Given the description of an element on the screen output the (x, y) to click on. 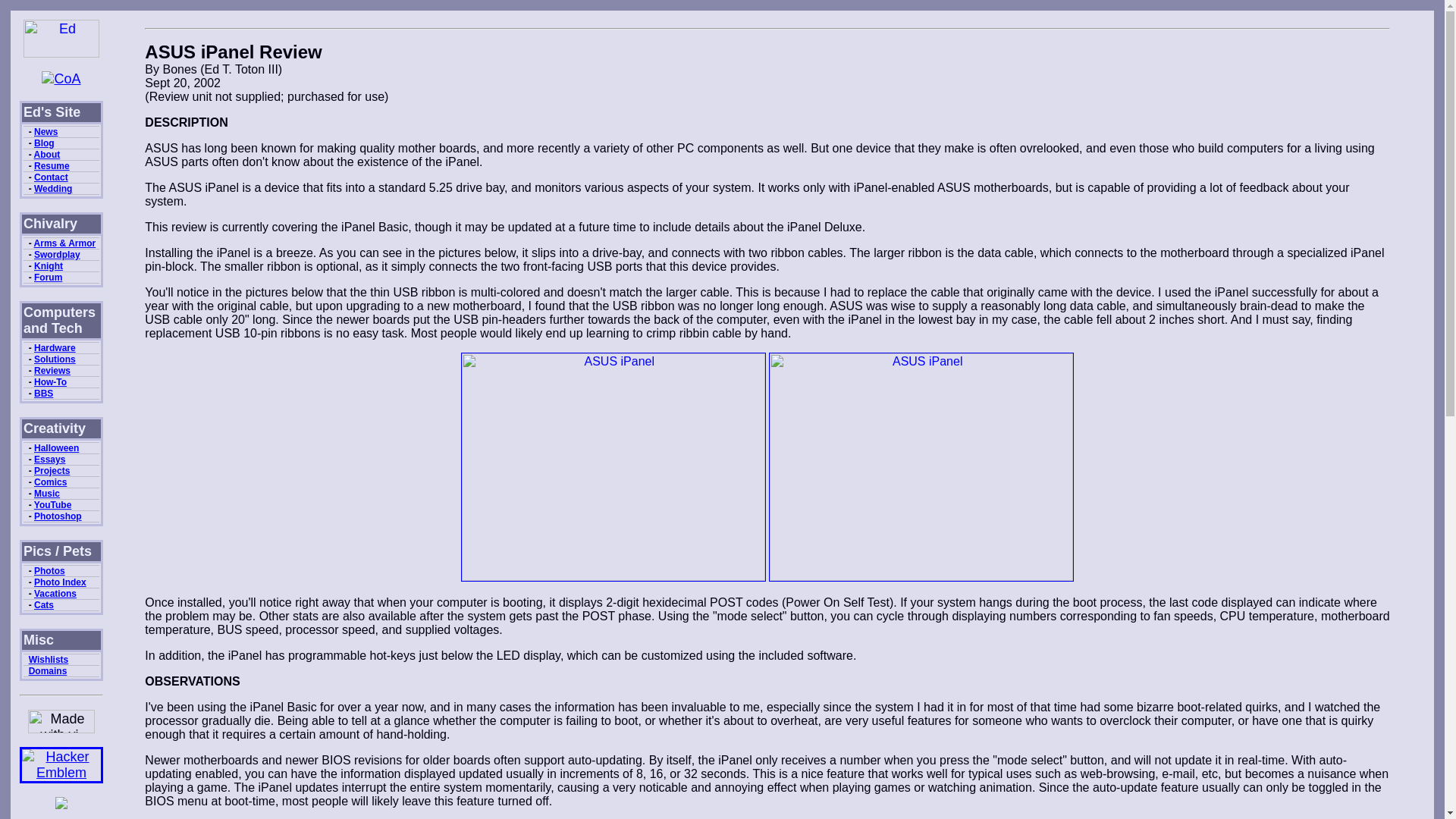
Halloween (55, 448)
Photoshop (57, 516)
Cats (43, 604)
News (45, 131)
Blog (44, 143)
Reviews (51, 370)
BBS (42, 393)
Hardware (54, 347)
Comics (49, 481)
Forum (47, 276)
